Given the description of an element on the screen output the (x, y) to click on. 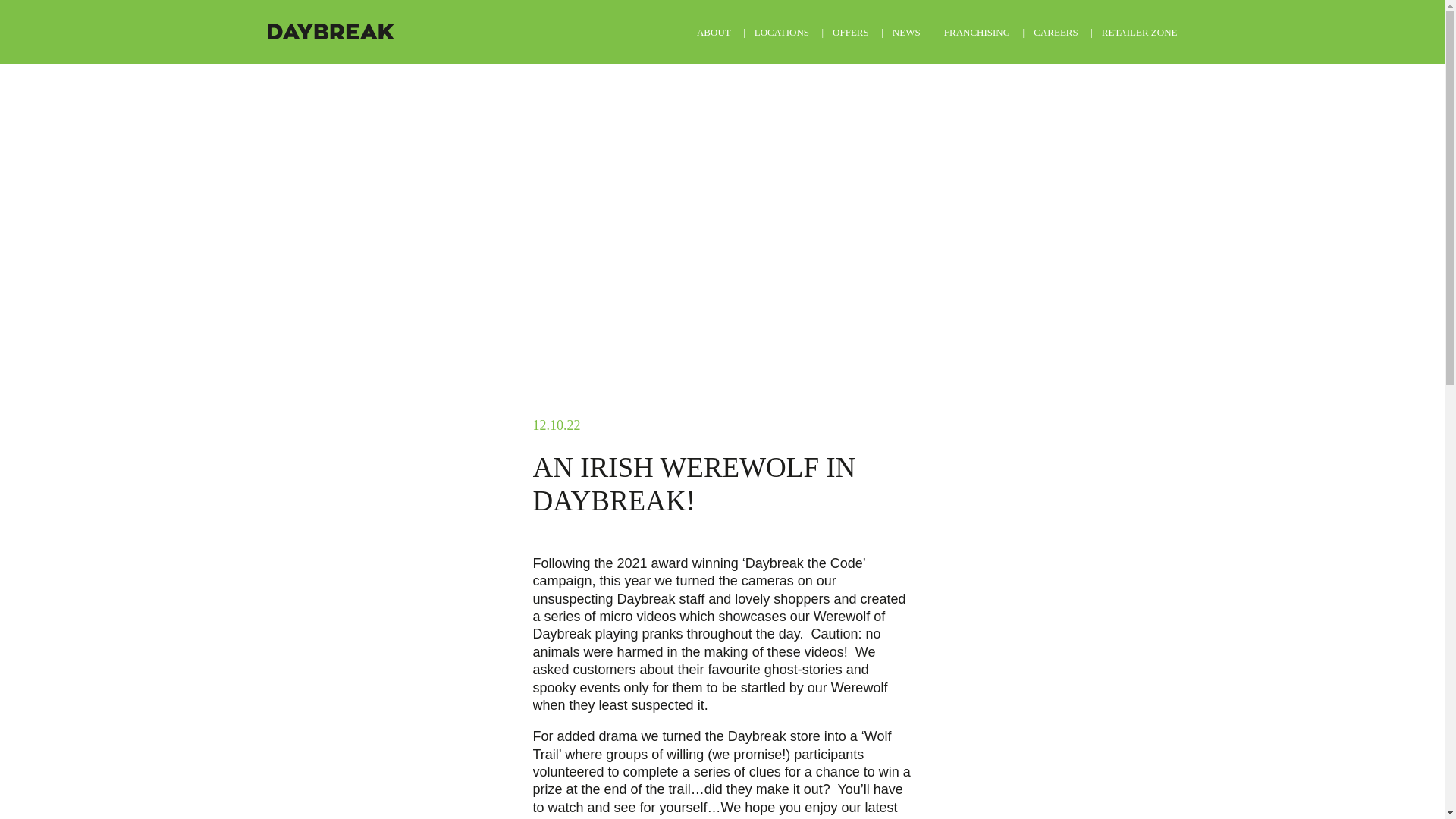
CAREERS (1055, 31)
Daybreak (329, 32)
ABOUT (713, 31)
FRANCHISING (976, 31)
NEWS (906, 31)
OFFERS (850, 31)
LOCATIONS (781, 31)
RETAILER ZONE (1139, 31)
